Given the description of an element on the screen output the (x, y) to click on. 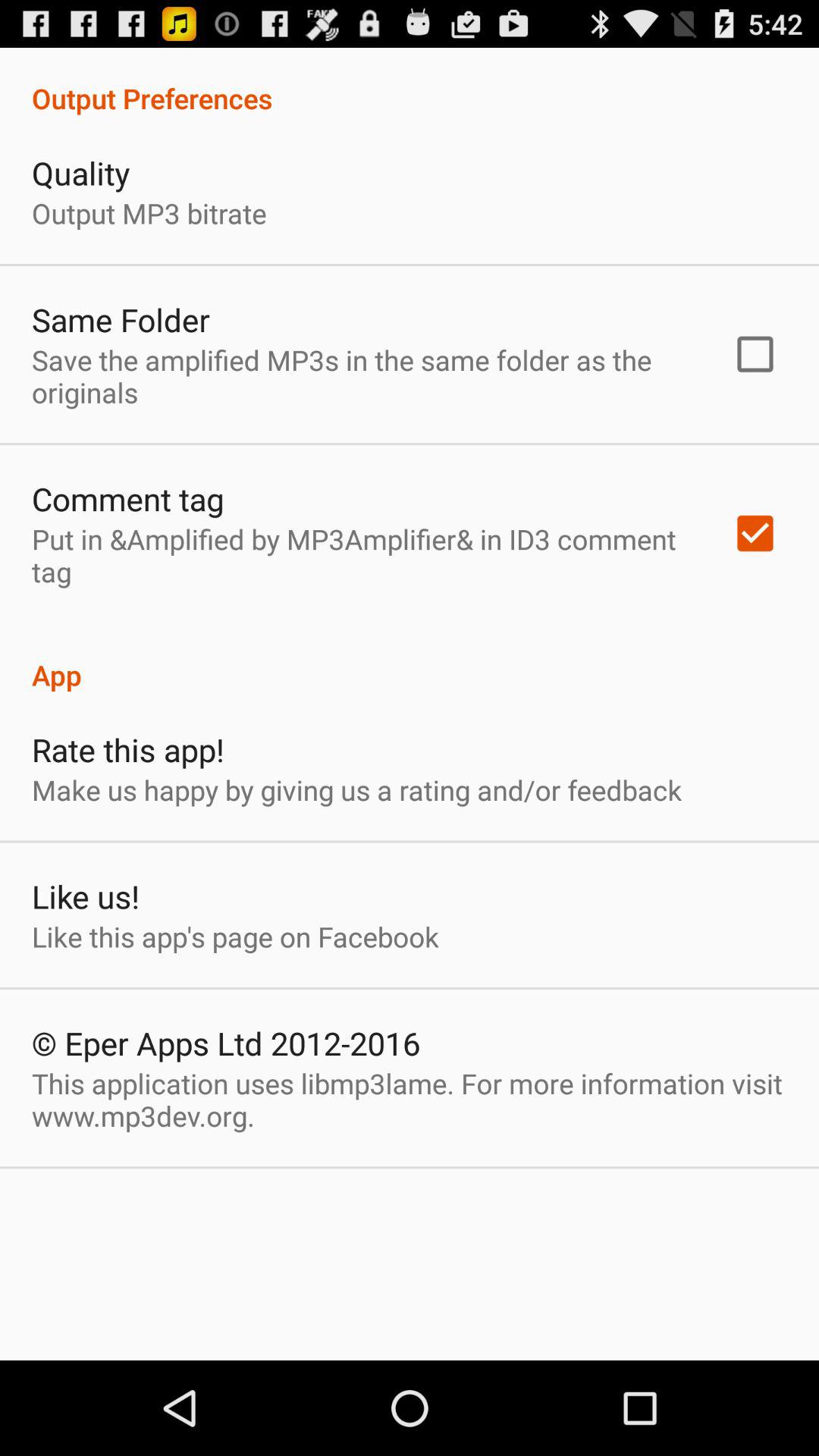
click the app above like us! (356, 789)
